Given the description of an element on the screen output the (x, y) to click on. 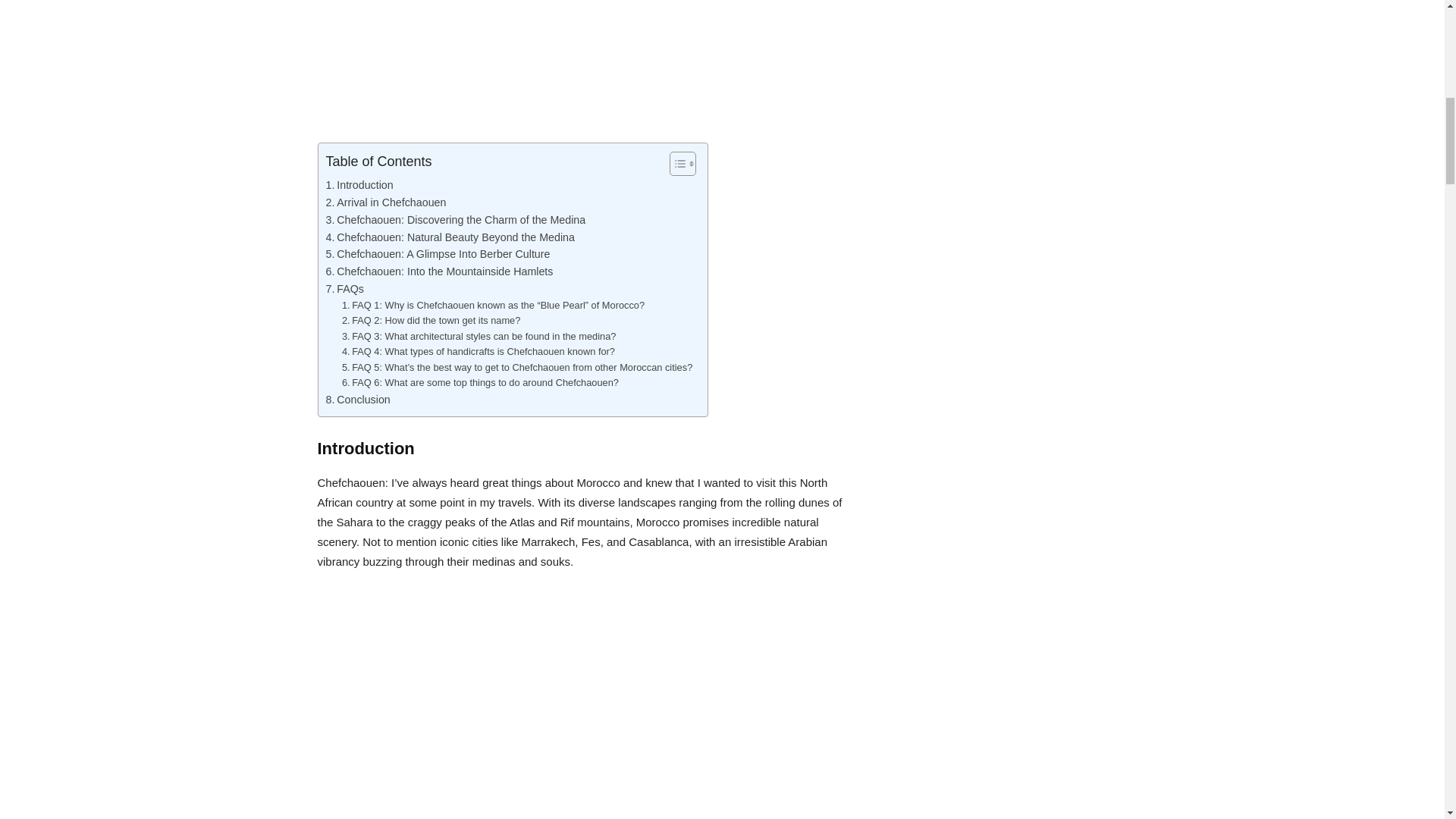
Arrival in Chefchaouen (386, 202)
Introduction (359, 185)
